Given the description of an element on the screen output the (x, y) to click on. 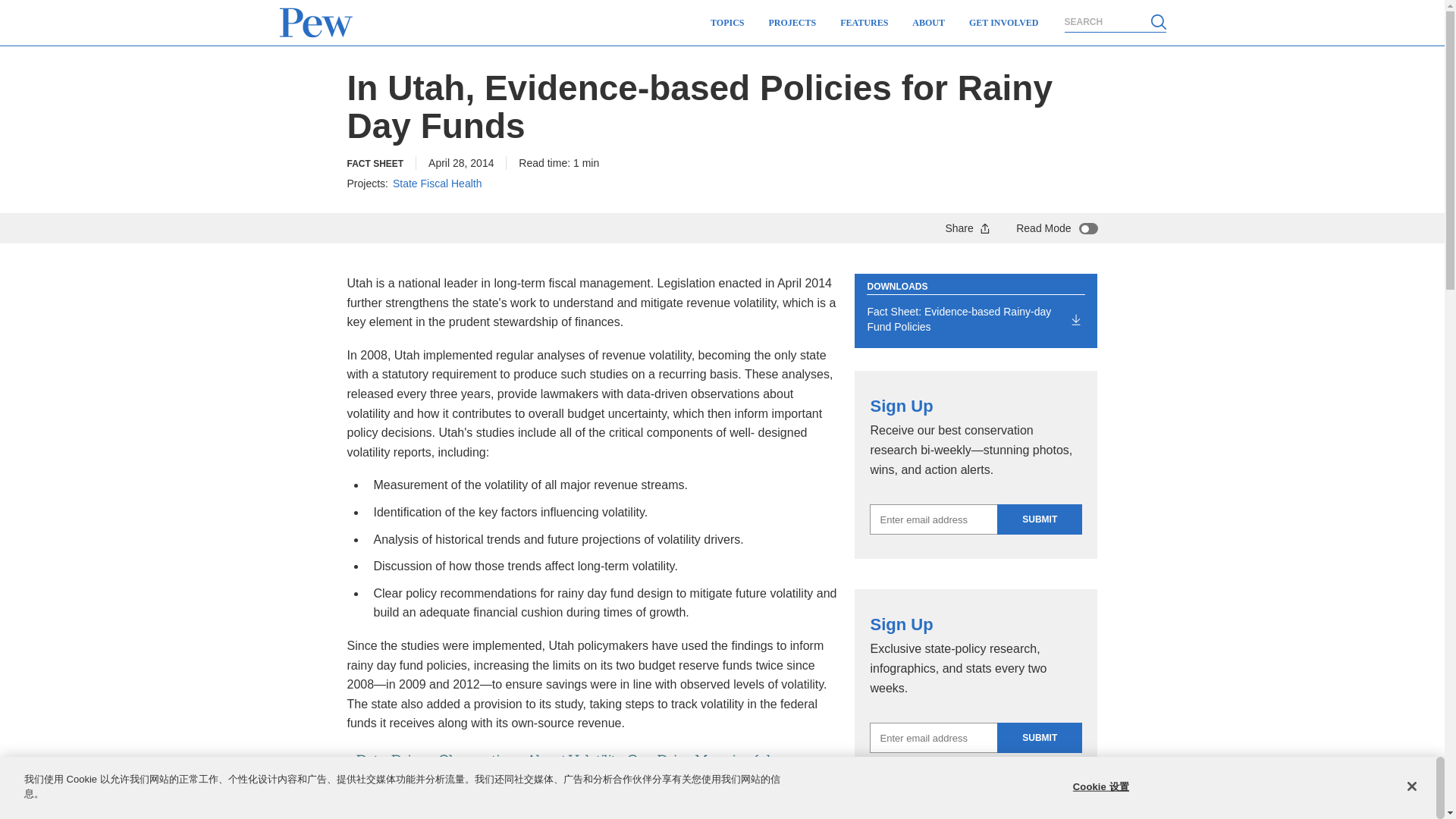
Submit (1039, 519)
Submit (1039, 737)
TOPICS (726, 22)
PROJECTS (792, 22)
